Given the description of an element on the screen output the (x, y) to click on. 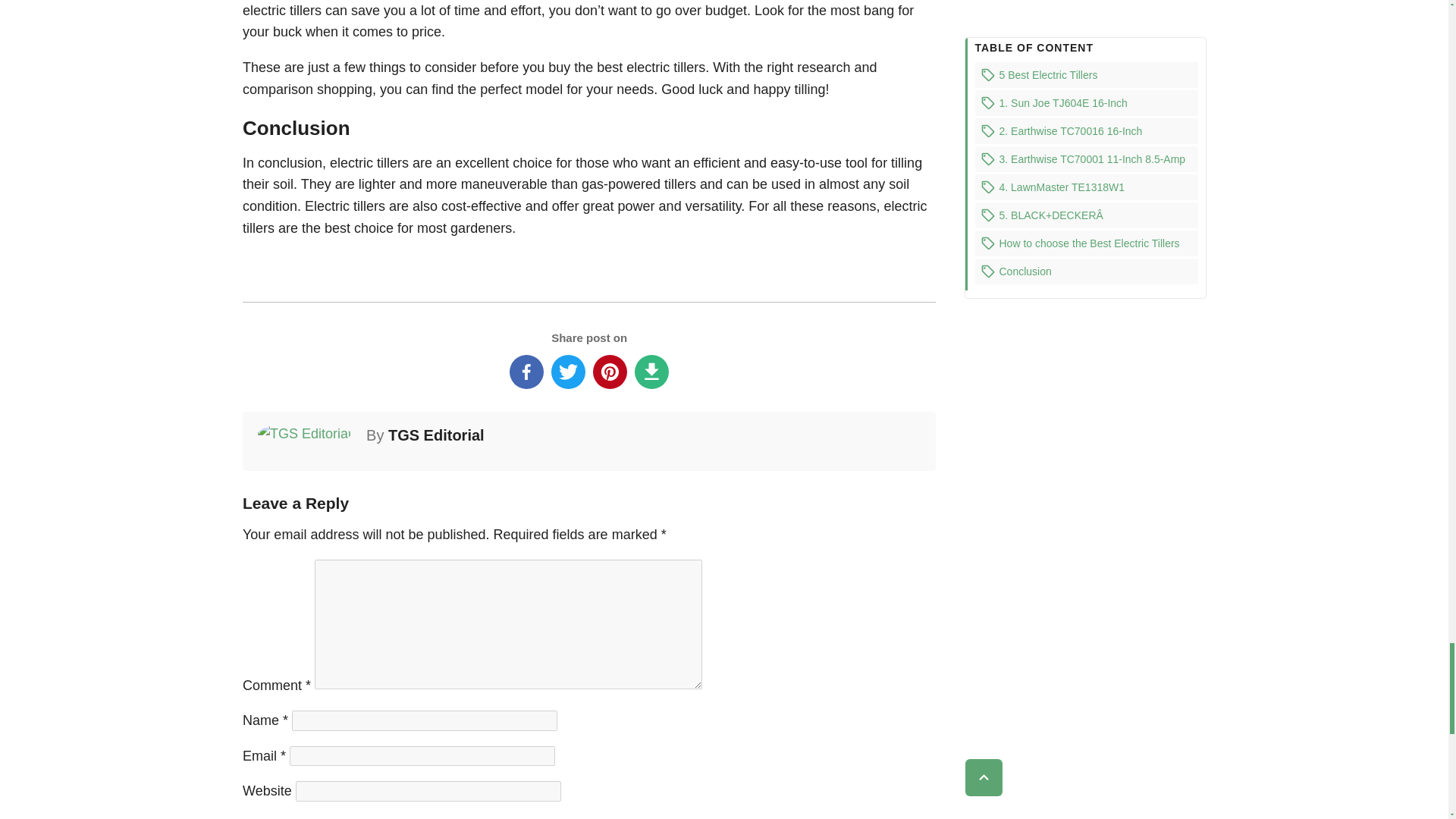
Share on Twitter (568, 371)
Download as PDF (651, 371)
Share on Facebook (526, 371)
Share on Pinterest (609, 371)
